Given the description of an element on the screen output the (x, y) to click on. 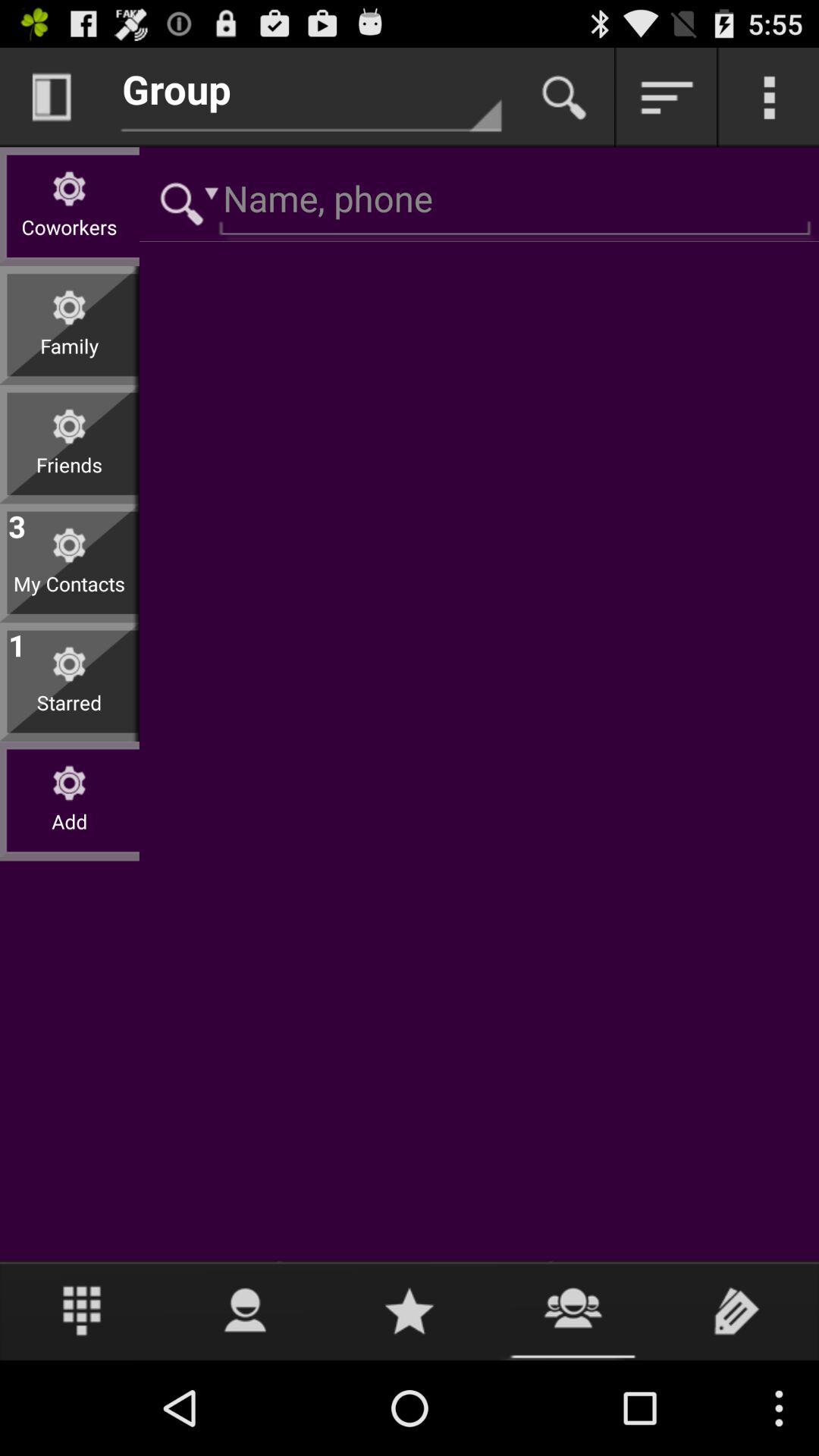
open option menu (769, 97)
